Given the description of an element on the screen output the (x, y) to click on. 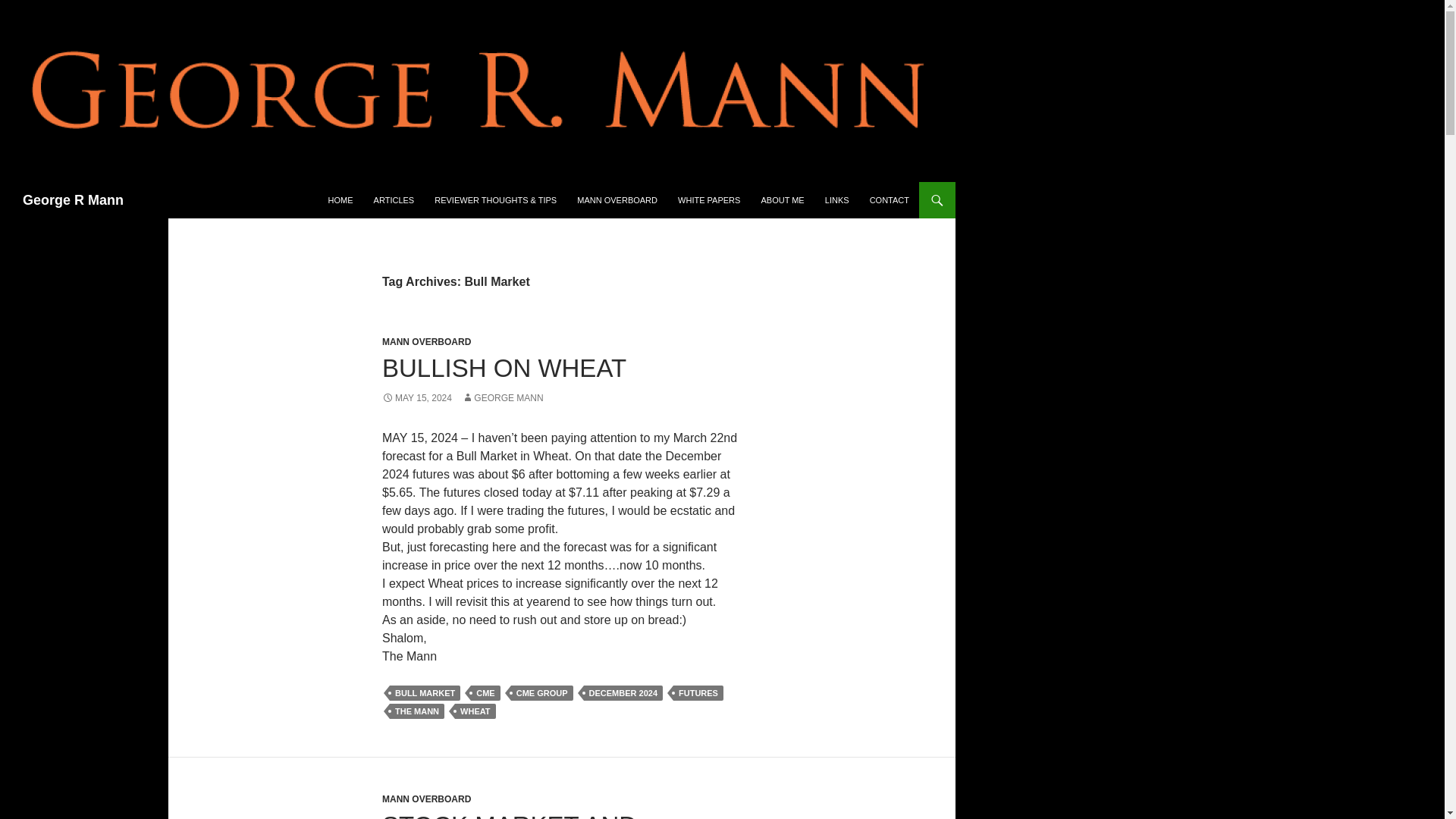
CME (484, 693)
BULLISH ON WHEAT (503, 367)
George R Mann (73, 199)
MANN OVERBOARD (425, 798)
MANN OVERBOARD (616, 199)
GEORGE MANN (502, 398)
THE MANN (417, 711)
DECEMBER 2024 (622, 693)
LINKS (837, 199)
ARTICLES (394, 199)
BULL MARKET (425, 693)
STOCK MARKET AND INTEREST RATES (509, 815)
HOME (340, 199)
CME GROUP (542, 693)
